Given the description of an element on the screen output the (x, y) to click on. 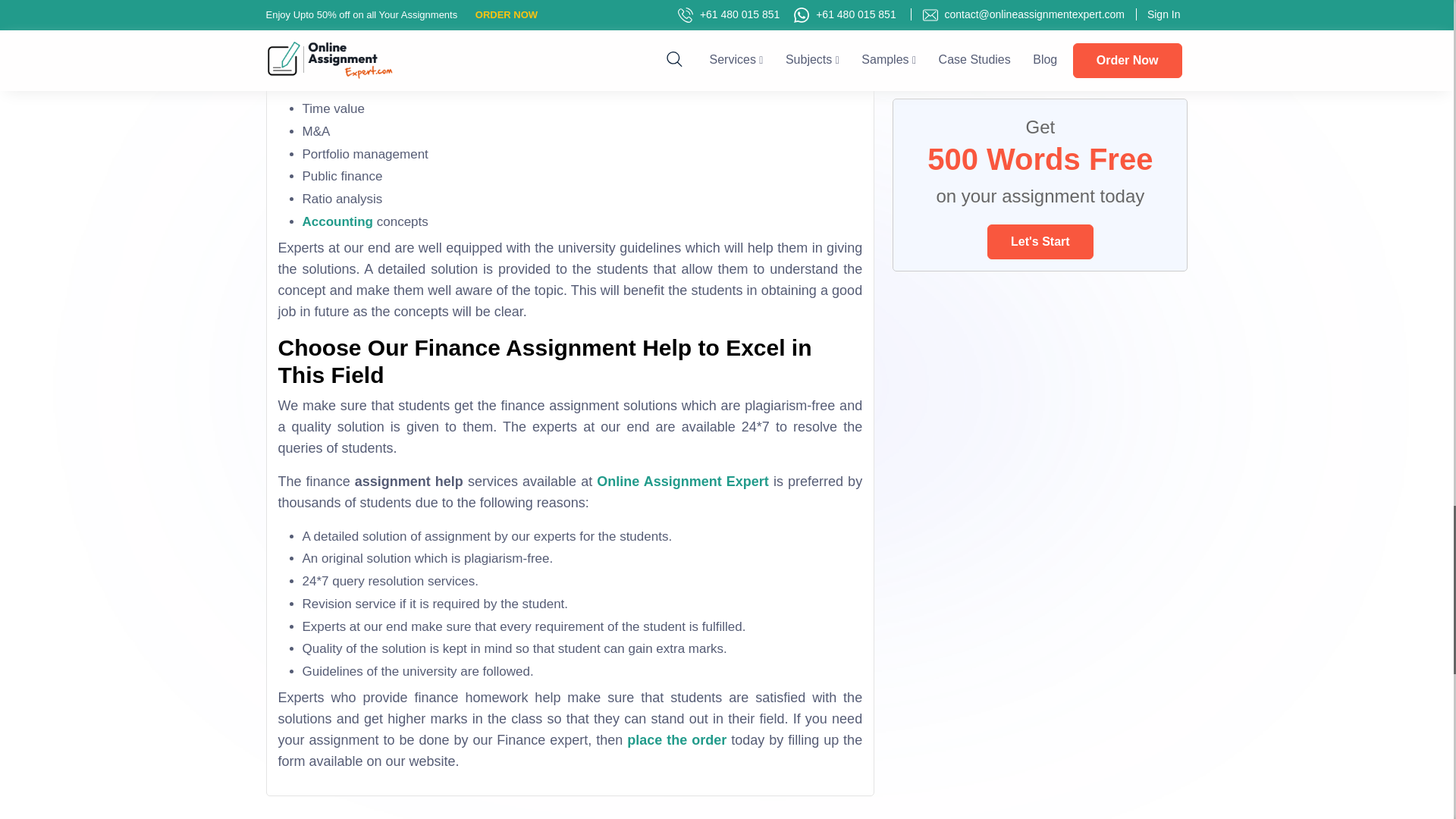
Best Assignment Help Order (676, 739)
Accounting Homework Helper in Canada (336, 221)
Financial Accounting Homework Services in Canada (329, 41)
Best Finance Assignment Experts in Canada (569, 7)
